Given the description of an element on the screen output the (x, y) to click on. 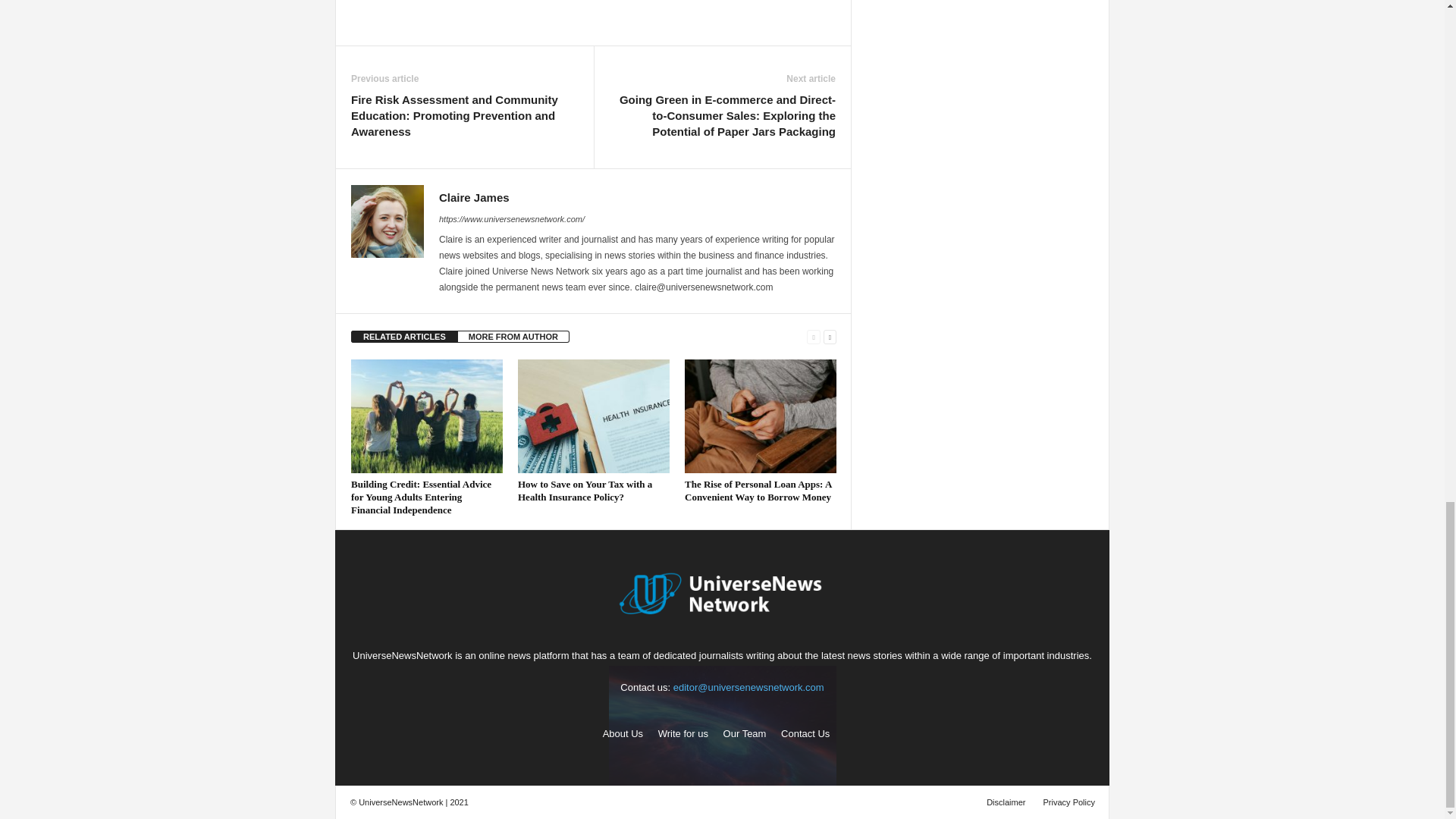
Claire James (474, 196)
RELATED ARTICLES (404, 336)
